Given the description of an element on the screen output the (x, y) to click on. 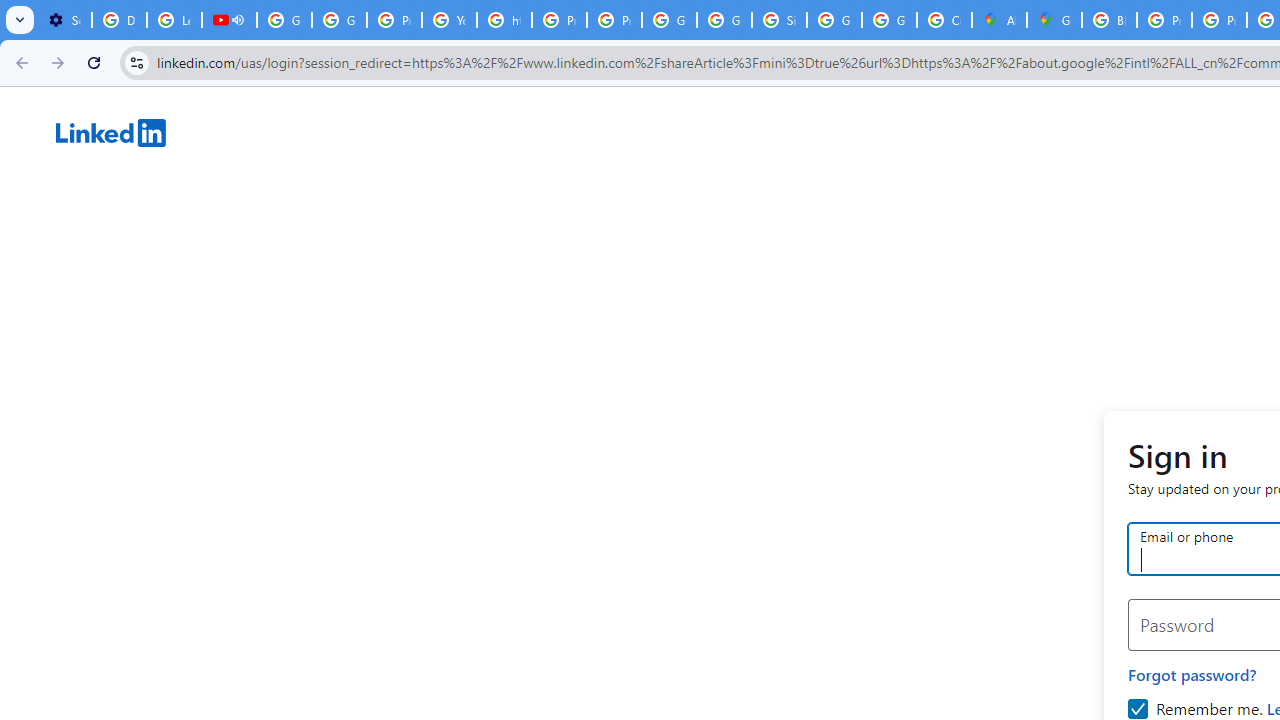
Learn how to find your photos - Google Photos Help (174, 20)
Forgot password? (1192, 674)
Settings - Customize profile (64, 20)
Google Account Help (284, 20)
Privacy Help Center - Policies Help (394, 20)
Create your Google Account (943, 20)
Privacy Help Center - Policies Help (1163, 20)
YouTube (449, 20)
Sign in - Google Accounts (779, 20)
